Given the description of an element on the screen output the (x, y) to click on. 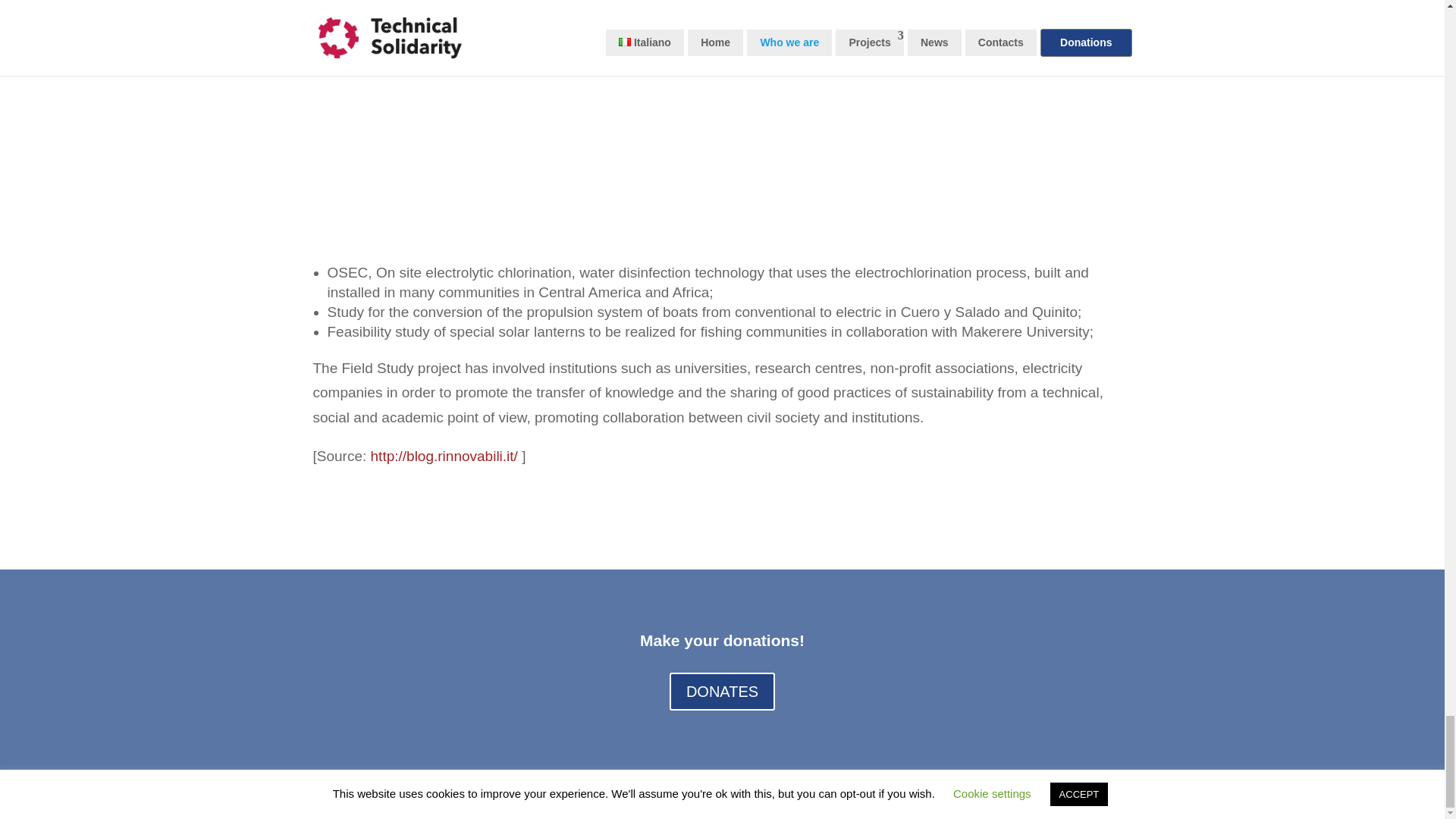
Andrea Marzii (428, 795)
DONATES (721, 691)
Graziano Di Crescenzo (584, 795)
